Given the description of an element on the screen output the (x, y) to click on. 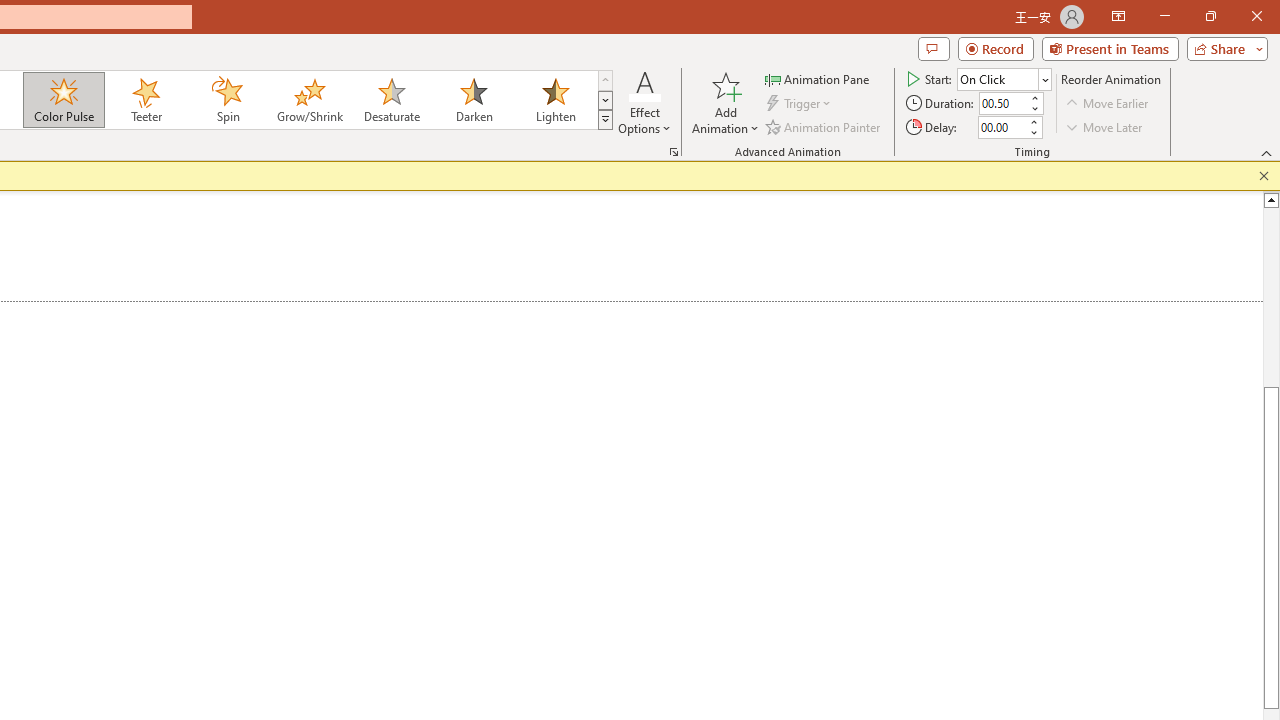
Desaturate (391, 100)
Animation Styles (605, 120)
More Options... (673, 151)
Start (1004, 78)
Animation Pane (818, 78)
Trigger (799, 103)
Spin (227, 100)
Close this message (1263, 176)
Animation Painter (824, 126)
Row Down (605, 100)
Animation Duration (1003, 103)
Move Earlier (1107, 103)
